Given the description of an element on the screen output the (x, y) to click on. 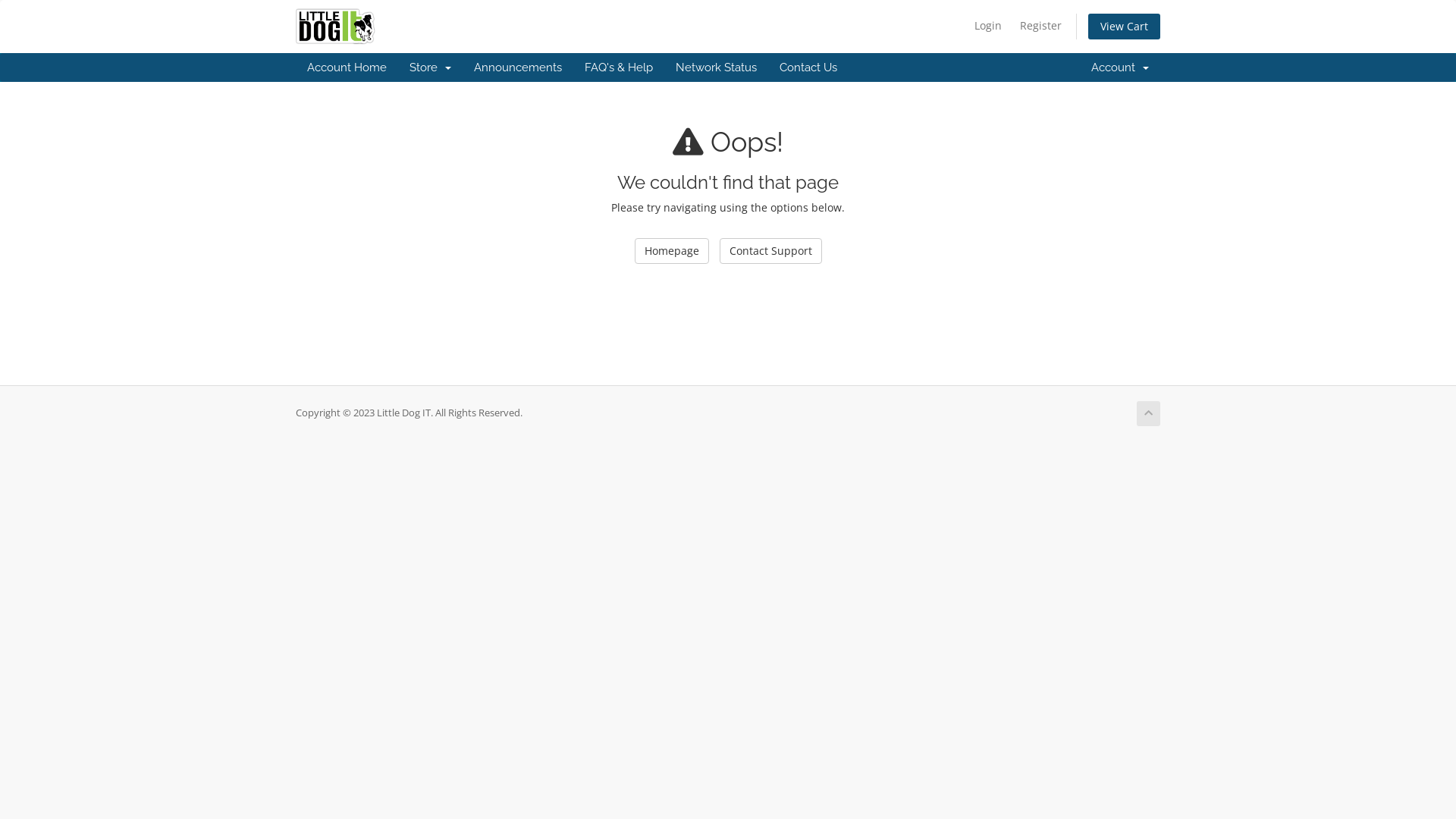
Account Home Element type: text (346, 67)
View Cart Element type: text (1124, 26)
Homepage Element type: text (670, 250)
Register Element type: text (1040, 25)
Store   Element type: text (430, 67)
FAQ's & Help Element type: text (618, 67)
Login Element type: text (987, 25)
Announcements Element type: text (517, 67)
Network Status Element type: text (716, 67)
Contact Us Element type: text (808, 67)
Account   Element type: text (1119, 67)
Contact Support Element type: text (769, 250)
